Given the description of an element on the screen output the (x, y) to click on. 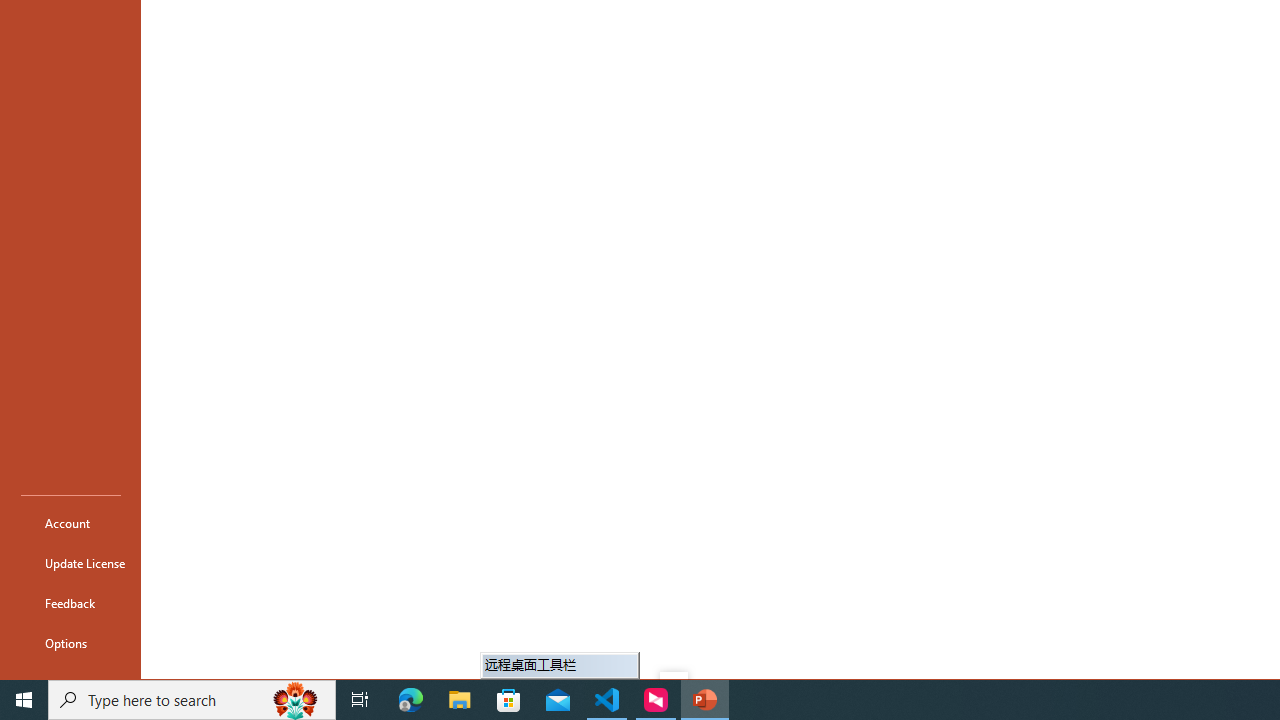
Update License (70, 562)
Options (70, 642)
Feedback (70, 602)
Account (70, 522)
